Given the description of an element on the screen output the (x, y) to click on. 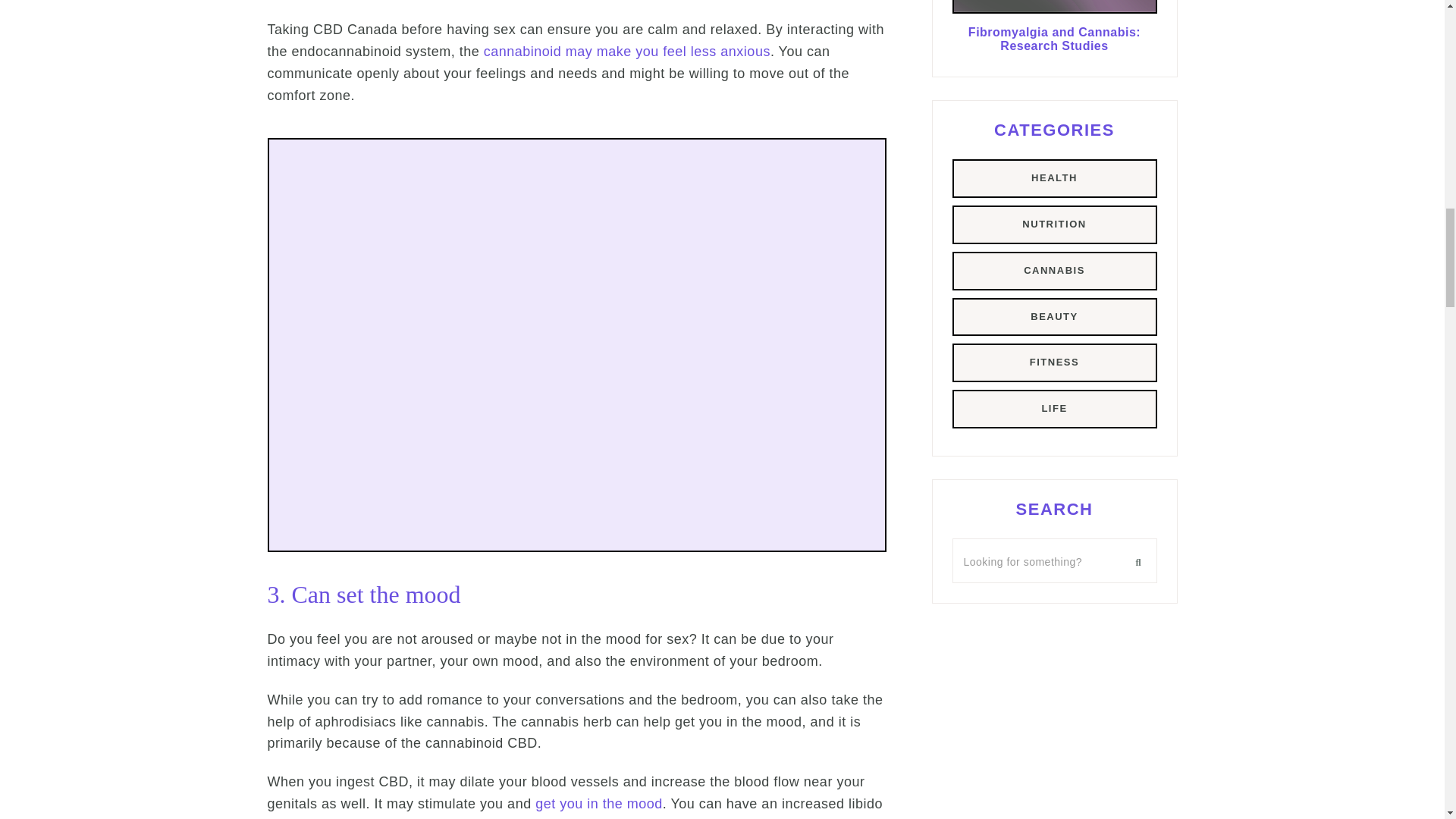
Fibromyalgia and Cannabis: Research Studies (1054, 10)
